Given the description of an element on the screen output the (x, y) to click on. 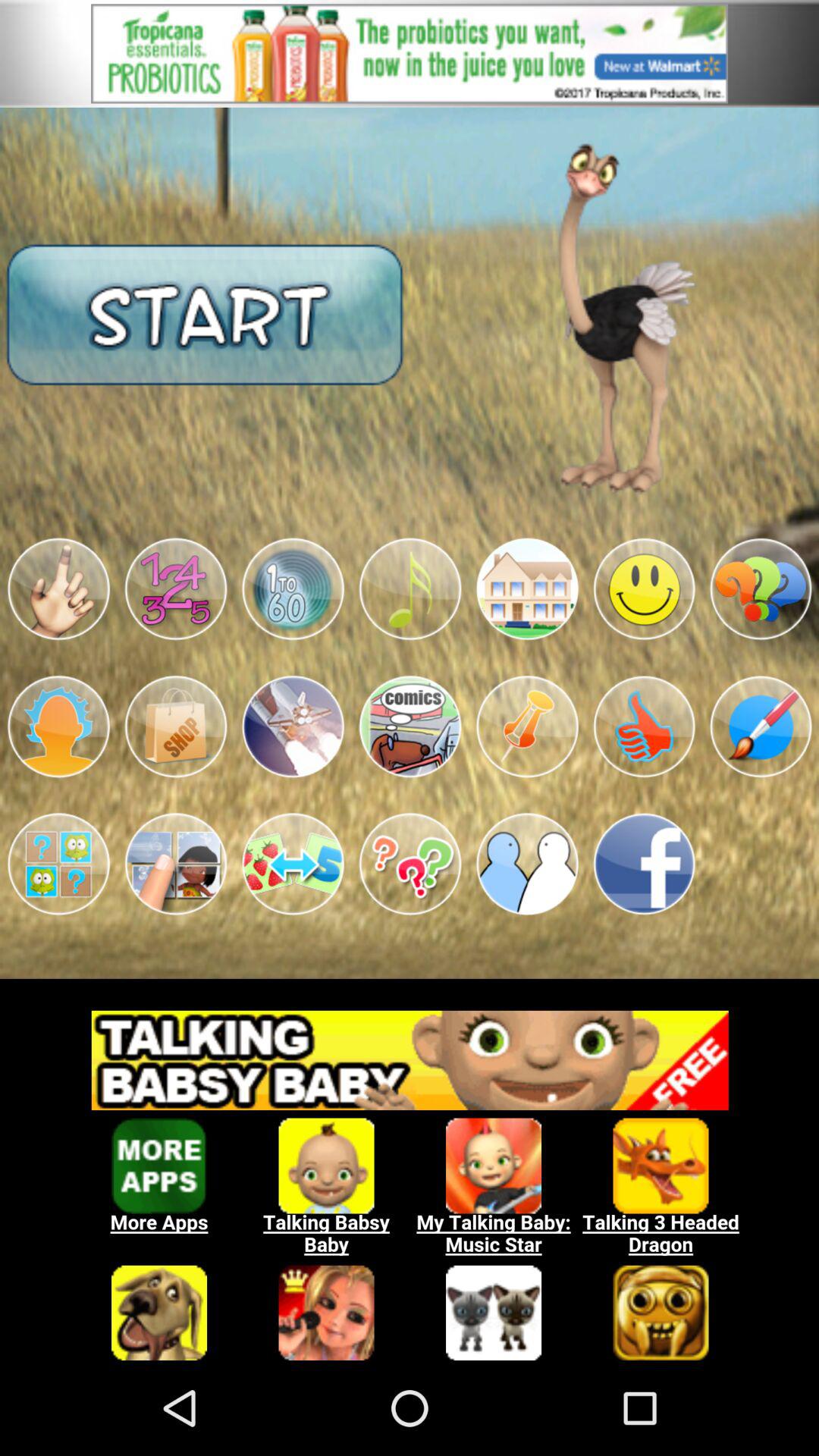
select advertisement (409, 1177)
